Given the description of an element on the screen output the (x, y) to click on. 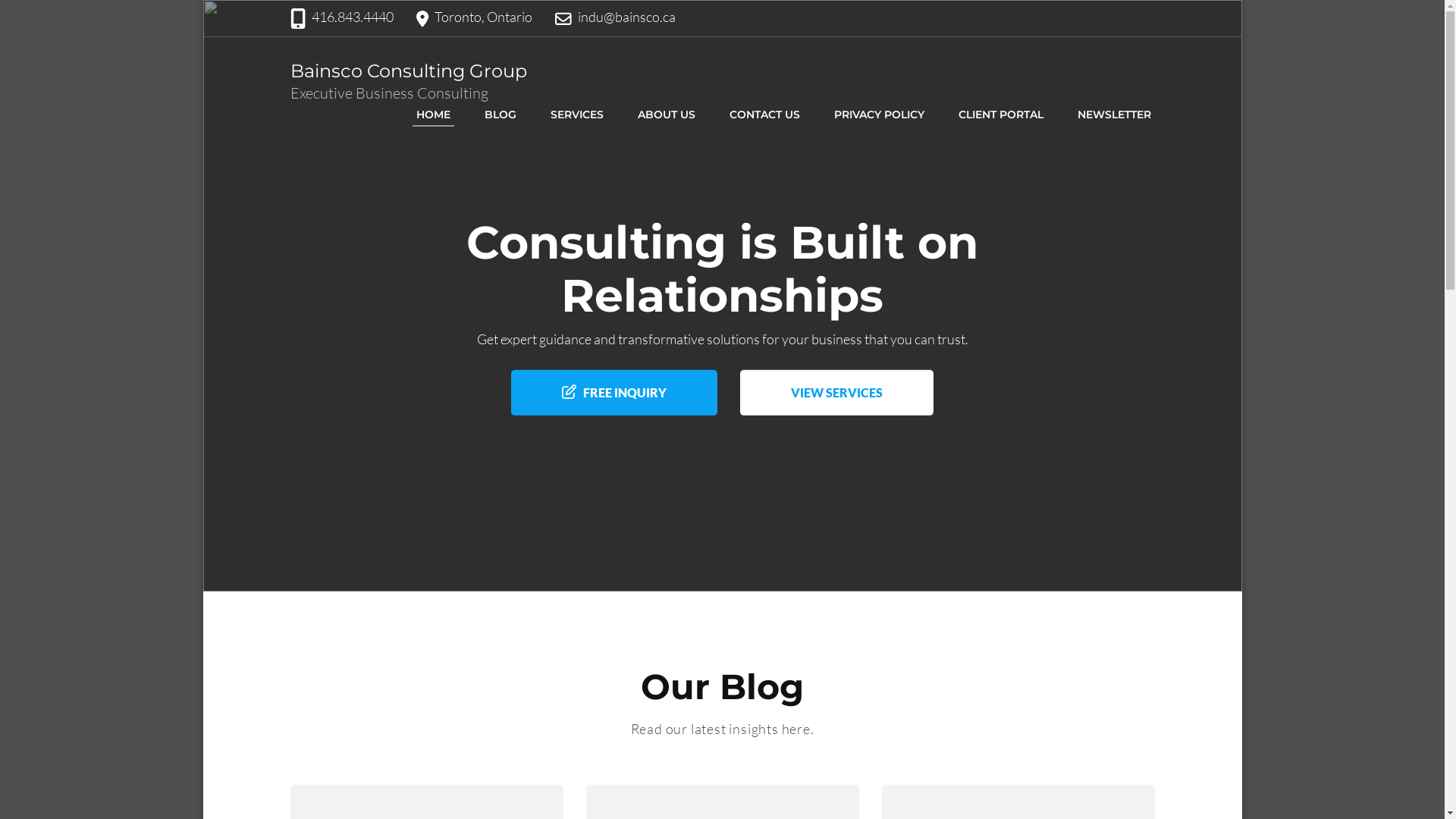
PRIVACY POLICY Element type: text (878, 114)
FREE INQUIRY Element type: text (613, 392)
CLIENT PORTAL Element type: text (999, 114)
CONTACT US Element type: text (763, 114)
ABOUT US Element type: text (666, 114)
BLOG Element type: text (500, 114)
NEWSLETTER Element type: text (1113, 114)
HOME Element type: text (433, 114)
416.843.4440 Element type: text (352, 16)
Bainsco Consulting Group Element type: text (407, 70)
VIEW SERVICES Element type: text (836, 392)
SERVICES Element type: text (576, 114)
indu@bainsco.ca Element type: text (626, 16)
